Given the description of an element on the screen output the (x, y) to click on. 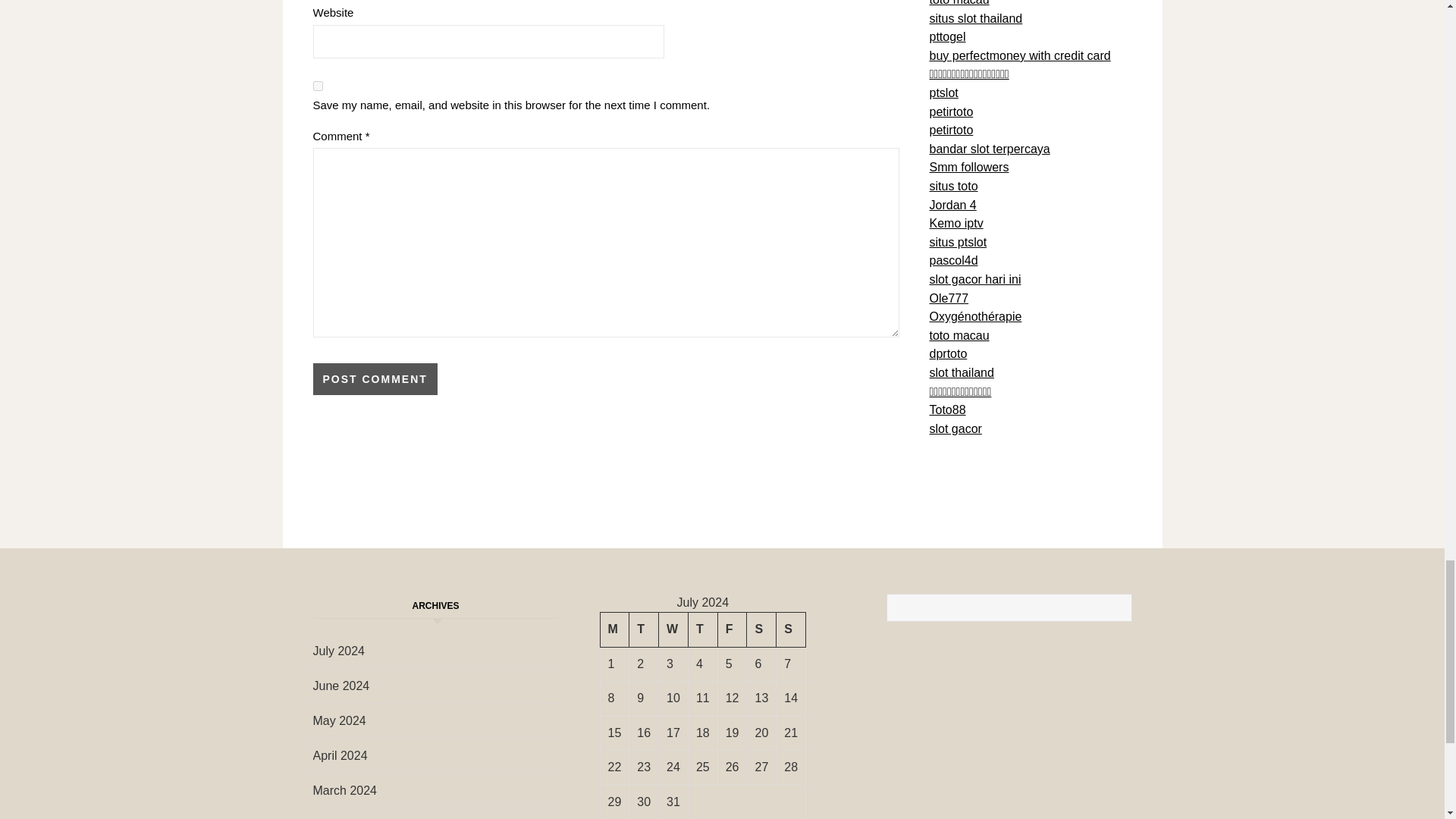
Post Comment (374, 378)
Post Comment (374, 378)
yes (317, 85)
